Given the description of an element on the screen output the (x, y) to click on. 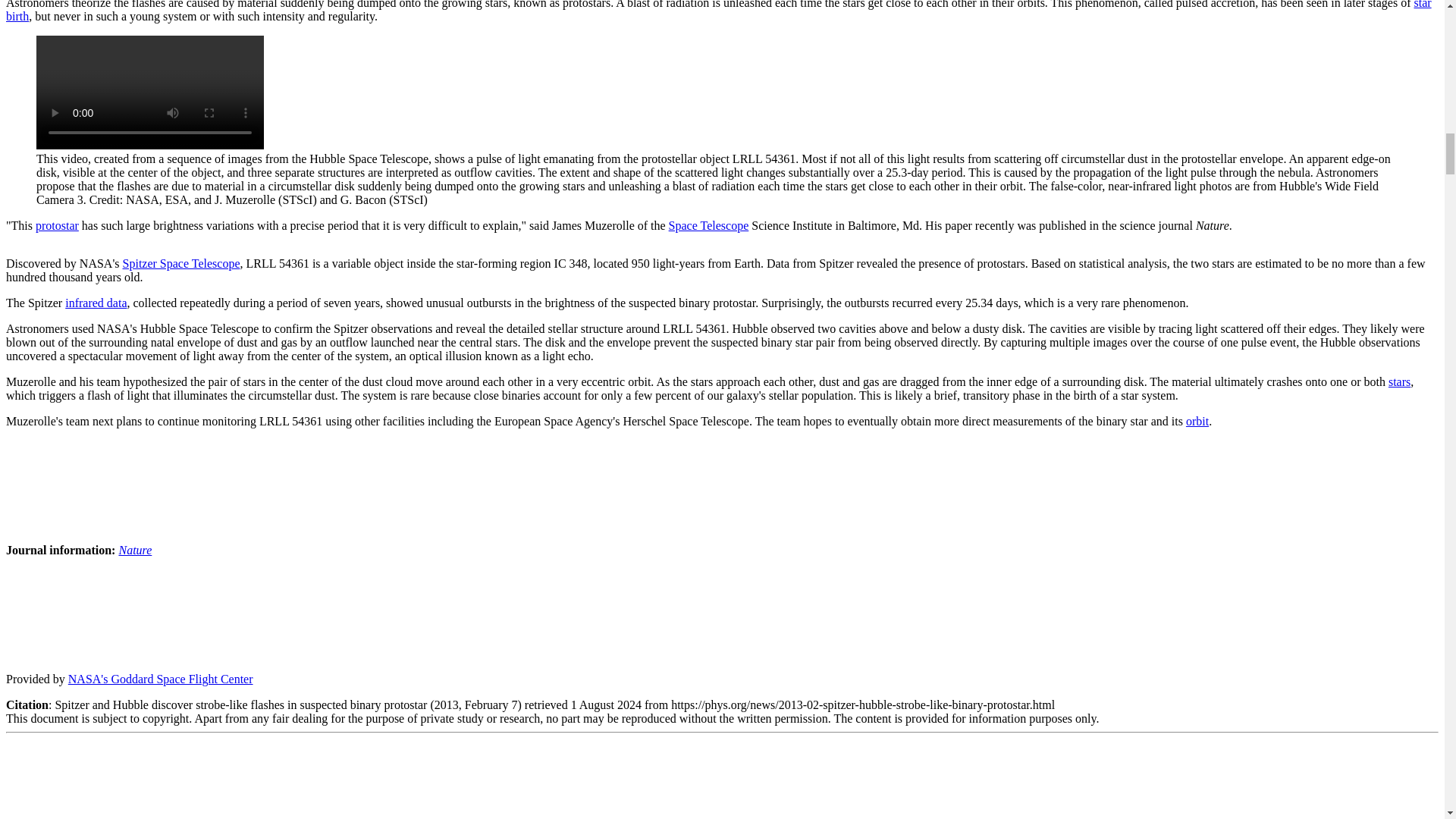
star birth (718, 11)
protostar (56, 225)
